Given the description of an element on the screen output the (x, y) to click on. 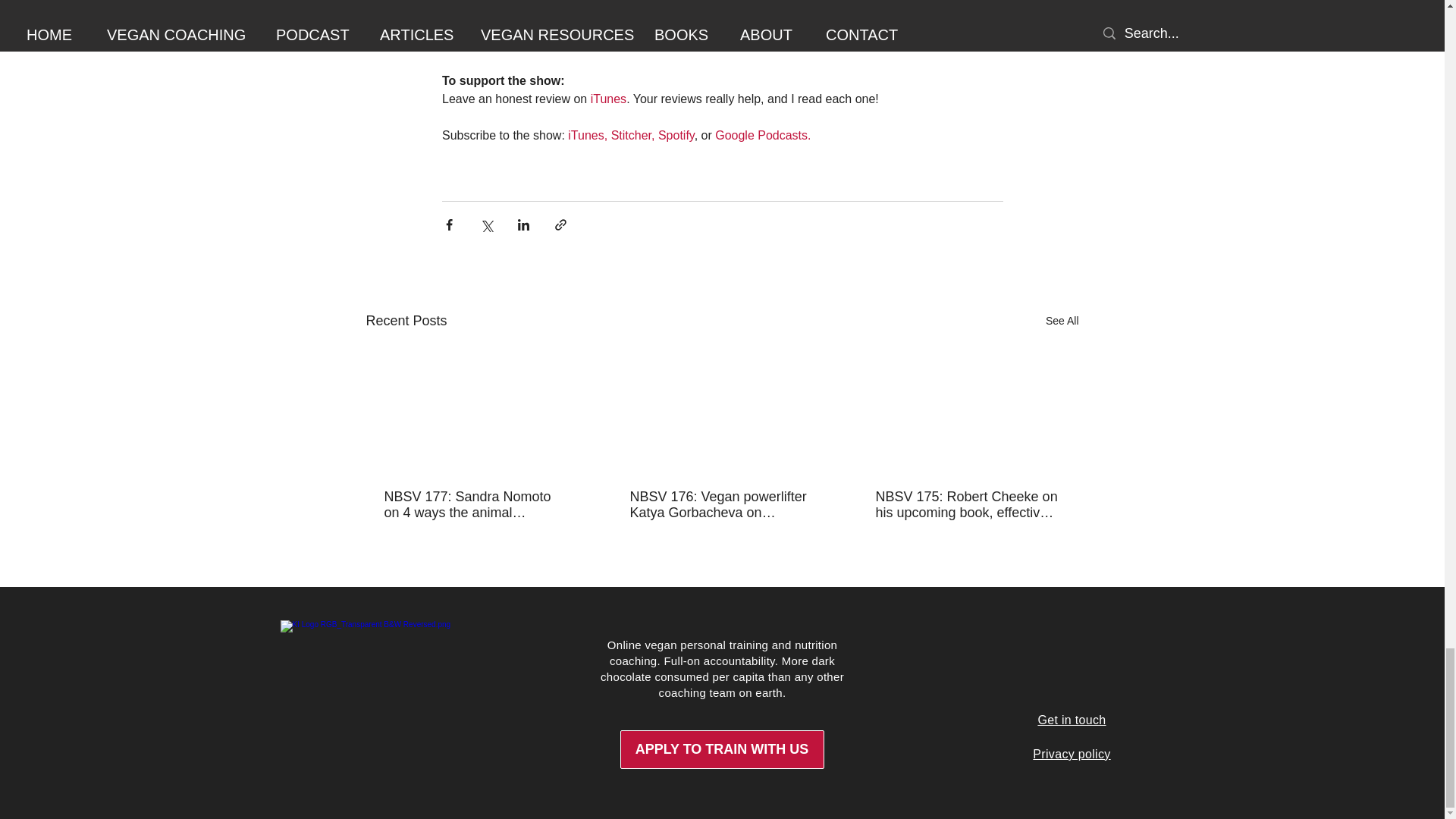
Google Podcasts.  (763, 134)
iTunes,  (588, 134)
Spotify (676, 134)
See All (1061, 321)
here (659, 43)
iTunes (607, 98)
Stitcher, (631, 134)
